Given the description of an element on the screen output the (x, y) to click on. 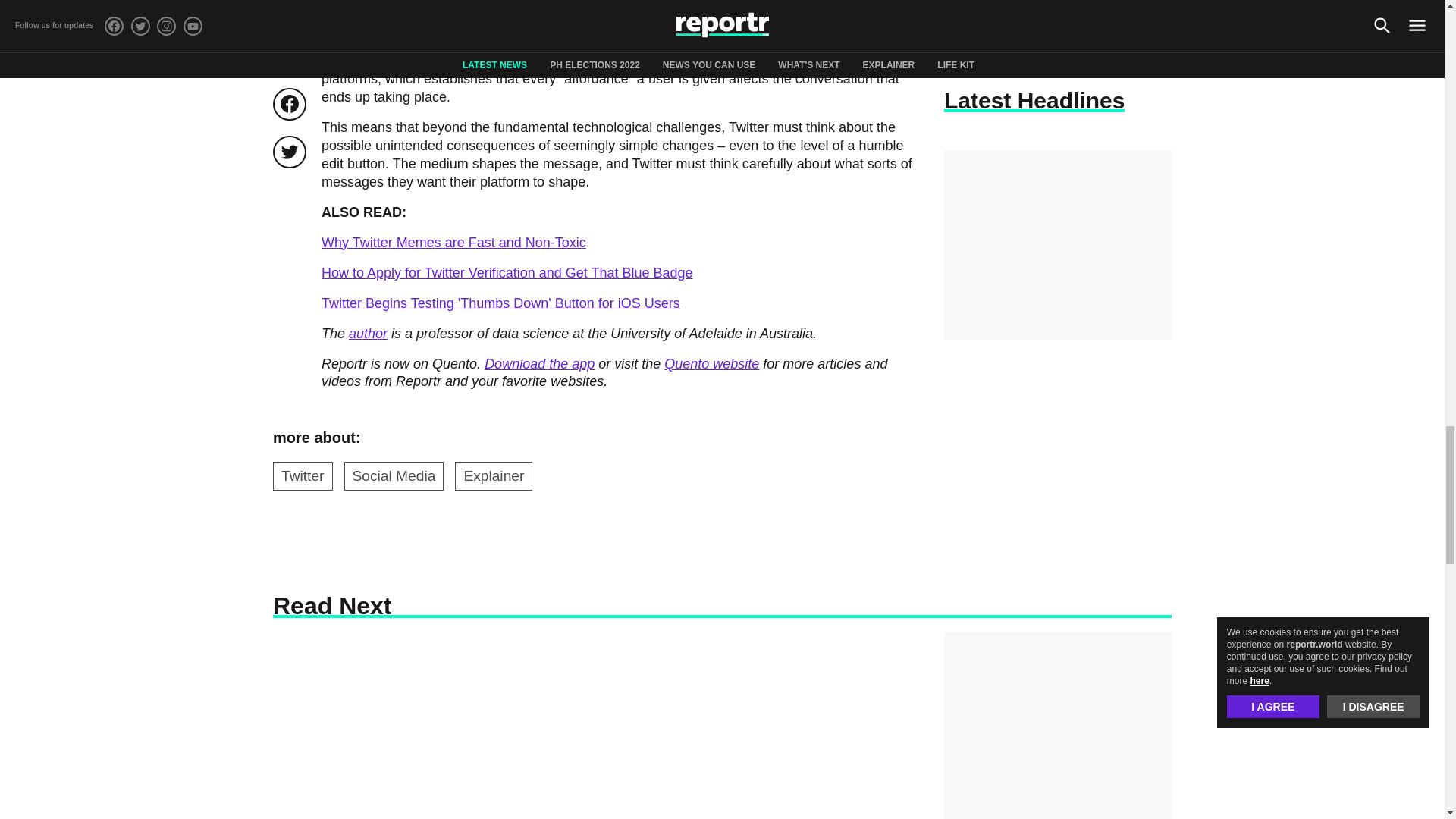
author (368, 333)
Why Twitter Memes are Fast and Non-Toxic (453, 242)
Twitter Begins Testing 'Thumbs Down' Button for iOS Users (500, 303)
